Given the description of an element on the screen output the (x, y) to click on. 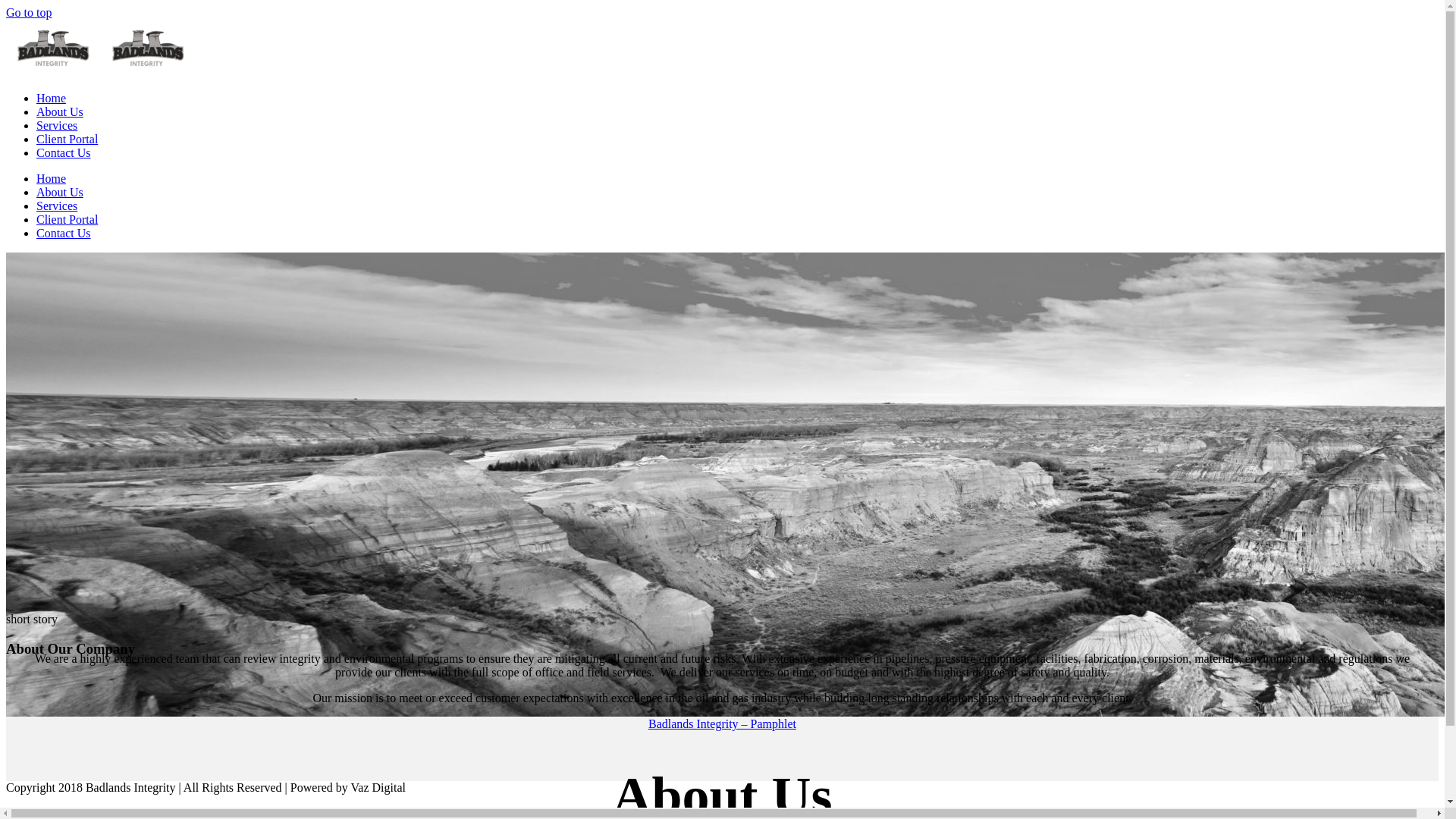
Contact Us Element type: text (63, 232)
Client Portal Element type: text (66, 138)
Contact Us Element type: text (63, 152)
Services Element type: text (56, 125)
Home Element type: text (50, 97)
Services Element type: text (56, 205)
About Us Element type: text (59, 111)
Home Element type: text (50, 178)
Client Portal Element type: text (66, 219)
Go to top Element type: text (28, 12)
About Us Element type: text (59, 191)
